Given the description of an element on the screen output the (x, y) to click on. 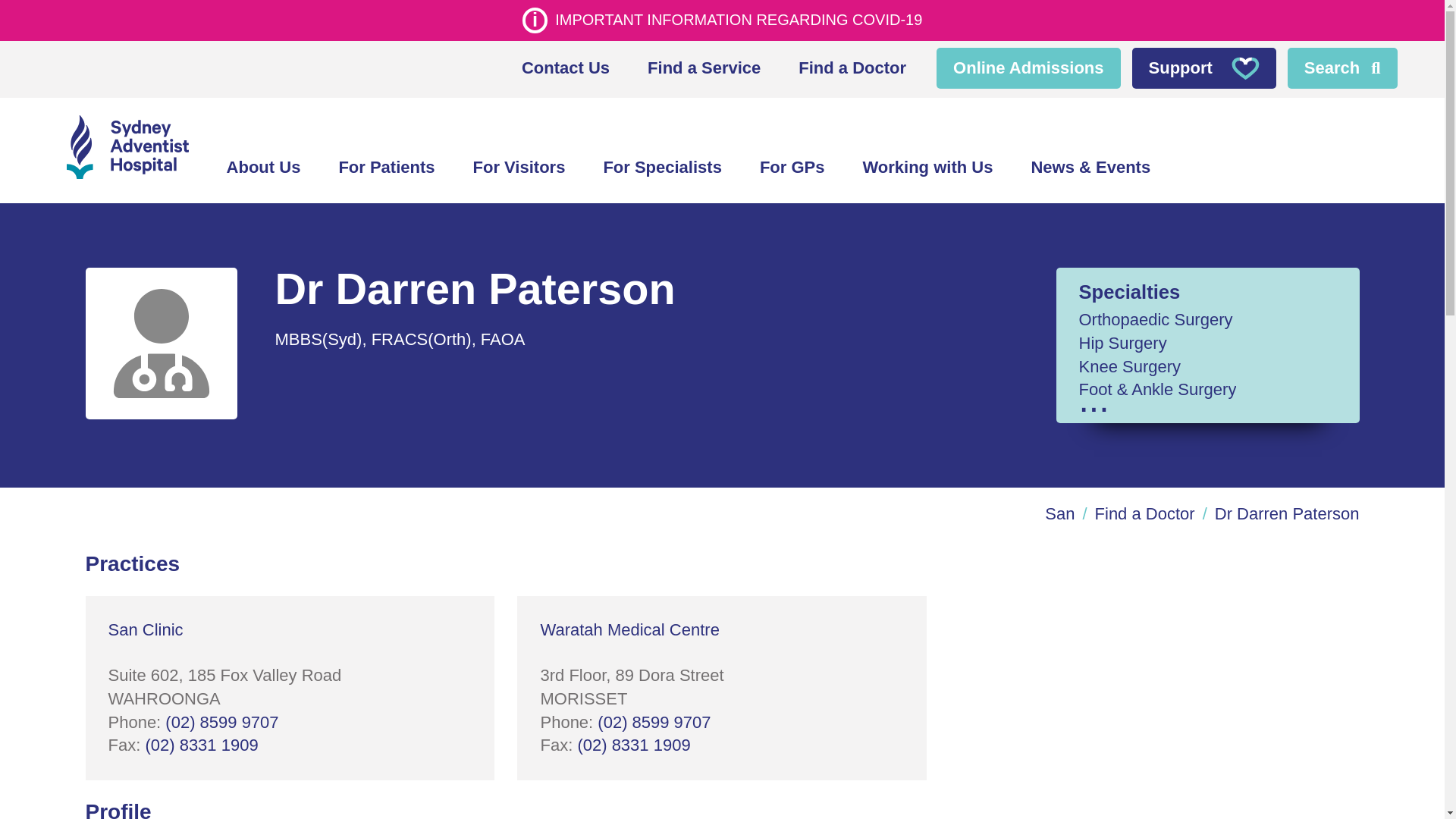
For Patients (385, 167)
For Specialists (662, 167)
Search (1342, 68)
For Visitors (519, 167)
Support (1204, 68)
Find a Service (703, 68)
For Patients (385, 167)
IMPORTANT INFORMATION REGARDING COVID-19 (721, 20)
For Visitors (519, 167)
Find a Doctor (851, 68)
About Us (264, 167)
Contact Us (565, 68)
Online Admissions (1027, 68)
About Us (264, 167)
